Given the description of an element on the screen output the (x, y) to click on. 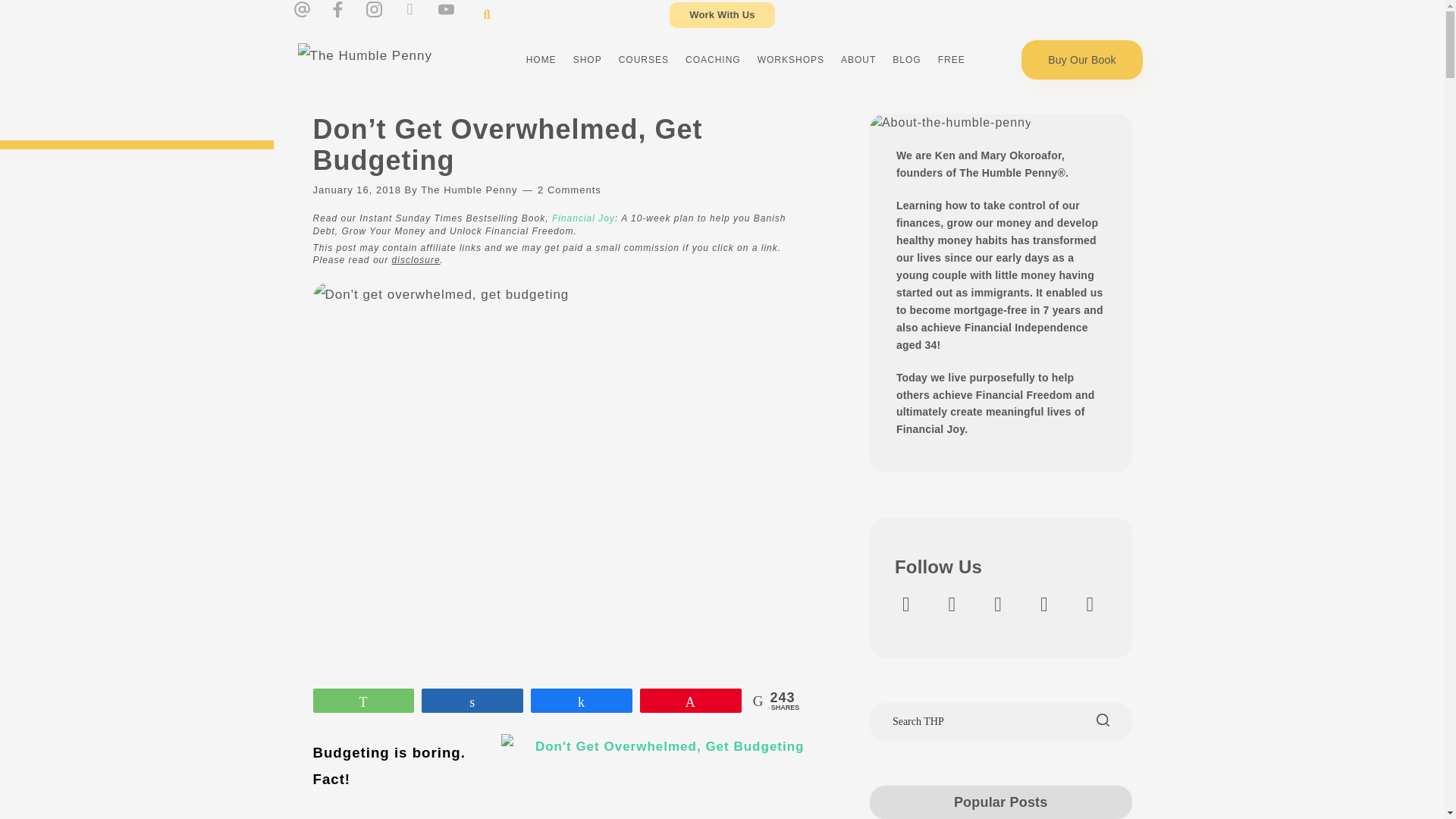
COACHING (712, 59)
Don't Get Overwhelmed, Get Budgeting (651, 776)
Default Label (906, 603)
Work With Us (721, 14)
FREE (951, 59)
COURSES (643, 59)
Search (480, 14)
HOME (541, 59)
Default Label (952, 603)
SHOP (587, 59)
